Given the description of an element on the screen output the (x, y) to click on. 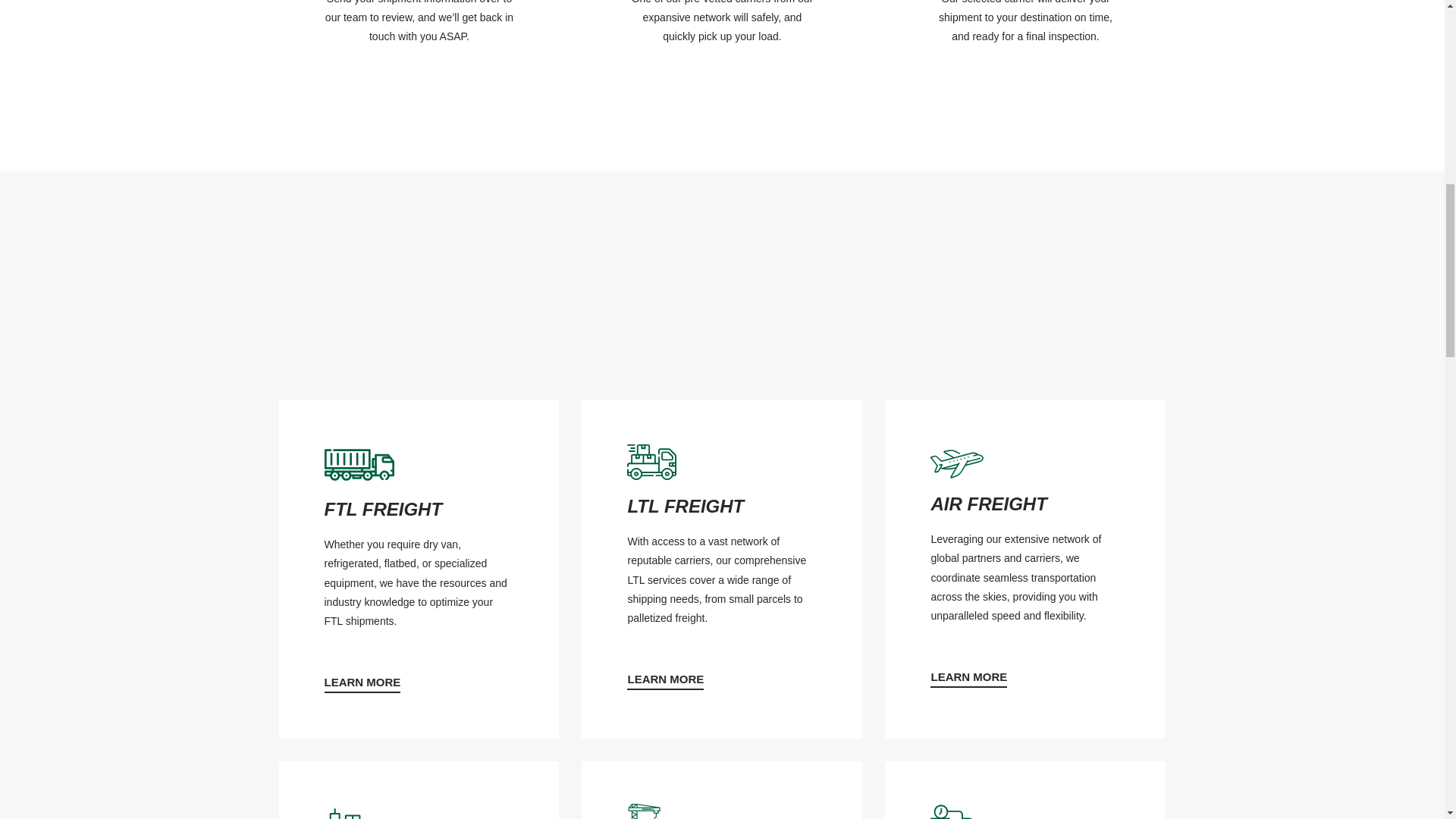
AIR FREIGHT (1024, 504)
LTL FREIGHT (721, 506)
LEARN MORE (665, 681)
LEARN MORE (362, 684)
LEARN MORE (968, 678)
FTL FREIGHT (418, 509)
